Given the description of an element on the screen output the (x, y) to click on. 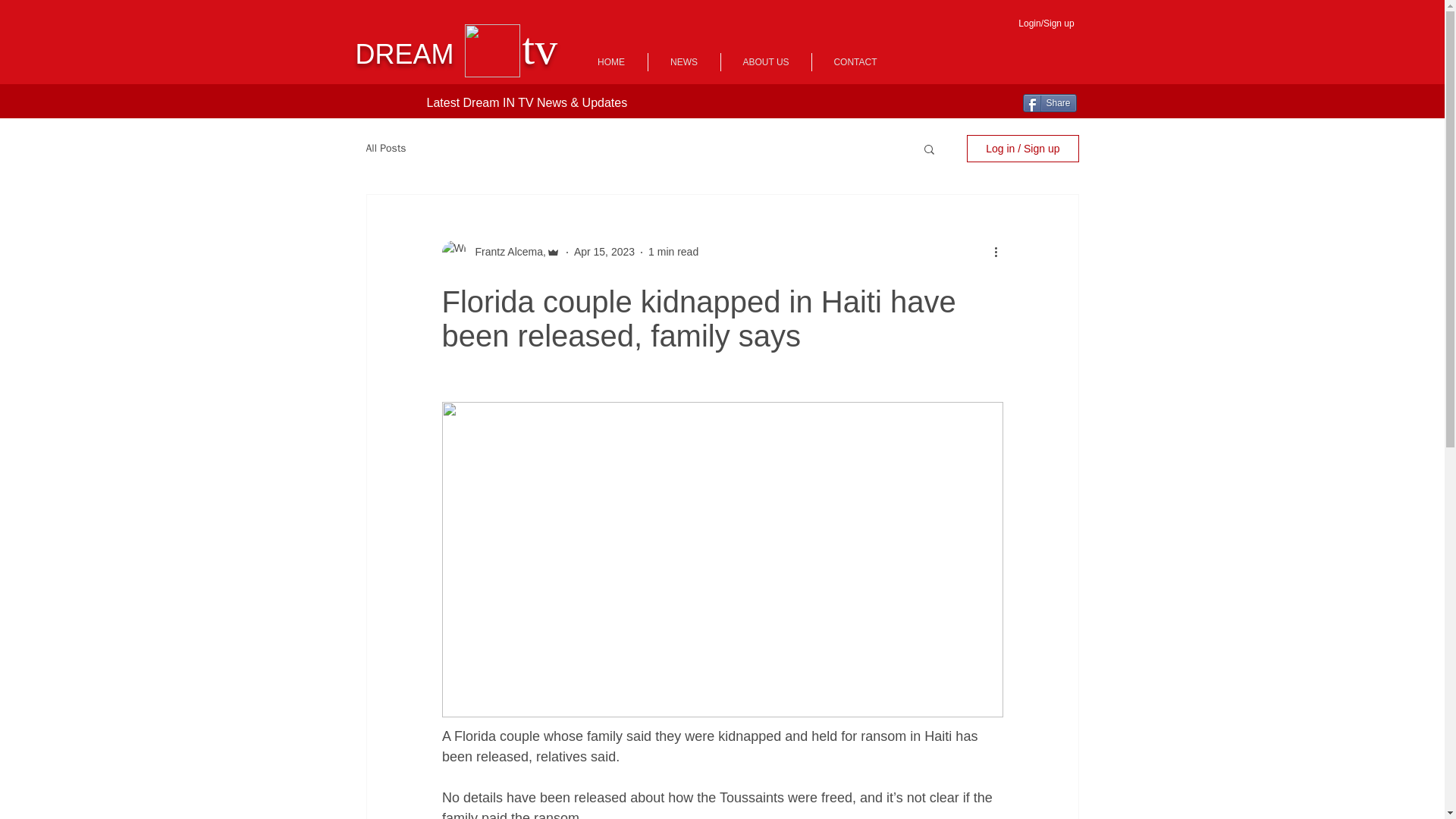
MENU (1134, 57)
Apr 15, 2023 (603, 251)
Facebook Like (384, 102)
ABOUT US (765, 62)
Share (1048, 103)
HOME (610, 62)
All Posts (385, 148)
CONTACT (854, 62)
Share (1048, 103)
NEWS (683, 62)
